Given the description of an element on the screen output the (x, y) to click on. 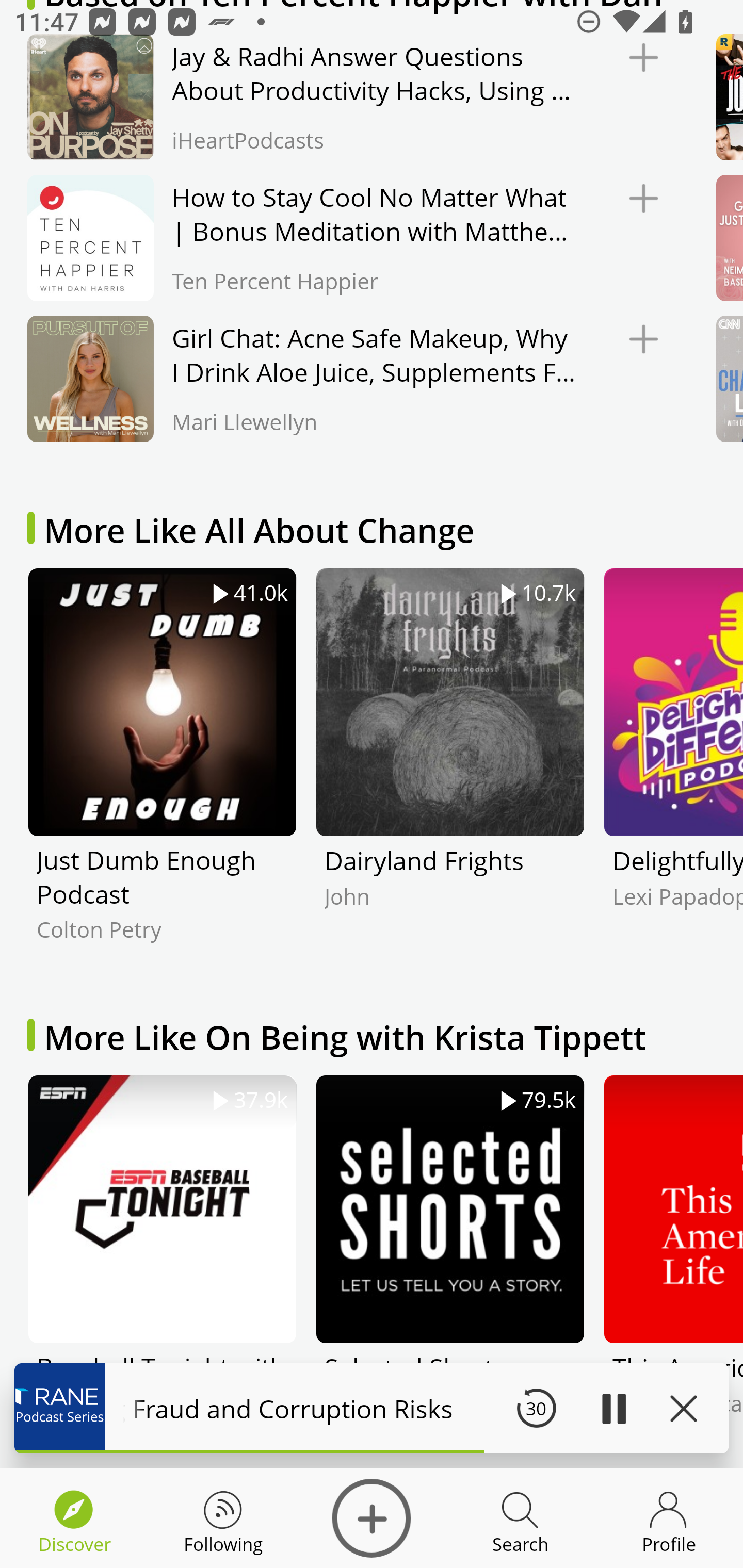
41.0k Just Dumb Enough Podcast Colton Petry (162, 769)
10.7k Dairyland Frights John (450, 769)
79.5k Selected Shorts Symphony Space (450, 1270)
Play (613, 1407)
30 Seek Backward (536, 1407)
Discover Following (222, 1518)
Discover (371, 1518)
Discover Search (519, 1518)
Discover Profile (668, 1518)
